Given the description of an element on the screen output the (x, y) to click on. 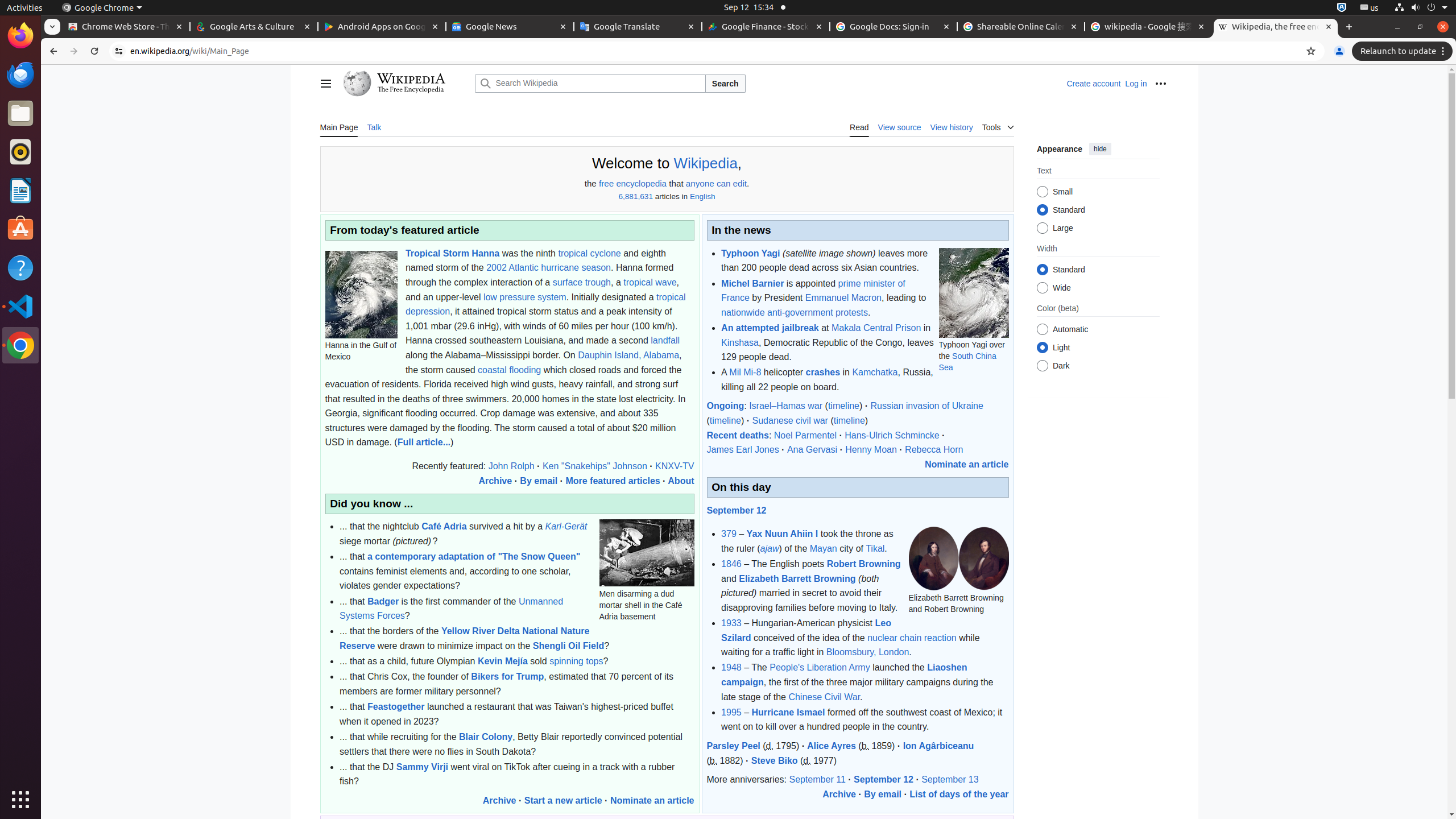
Small Element type: radio-button (1042, 191)
By email Element type: link (538, 480)
Ongoing Element type: link (725, 405)
Hans-Ulrich Schmincke Element type: link (891, 434)
Rhythmbox Element type: push-button (20, 151)
